Given the description of an element on the screen output the (x, y) to click on. 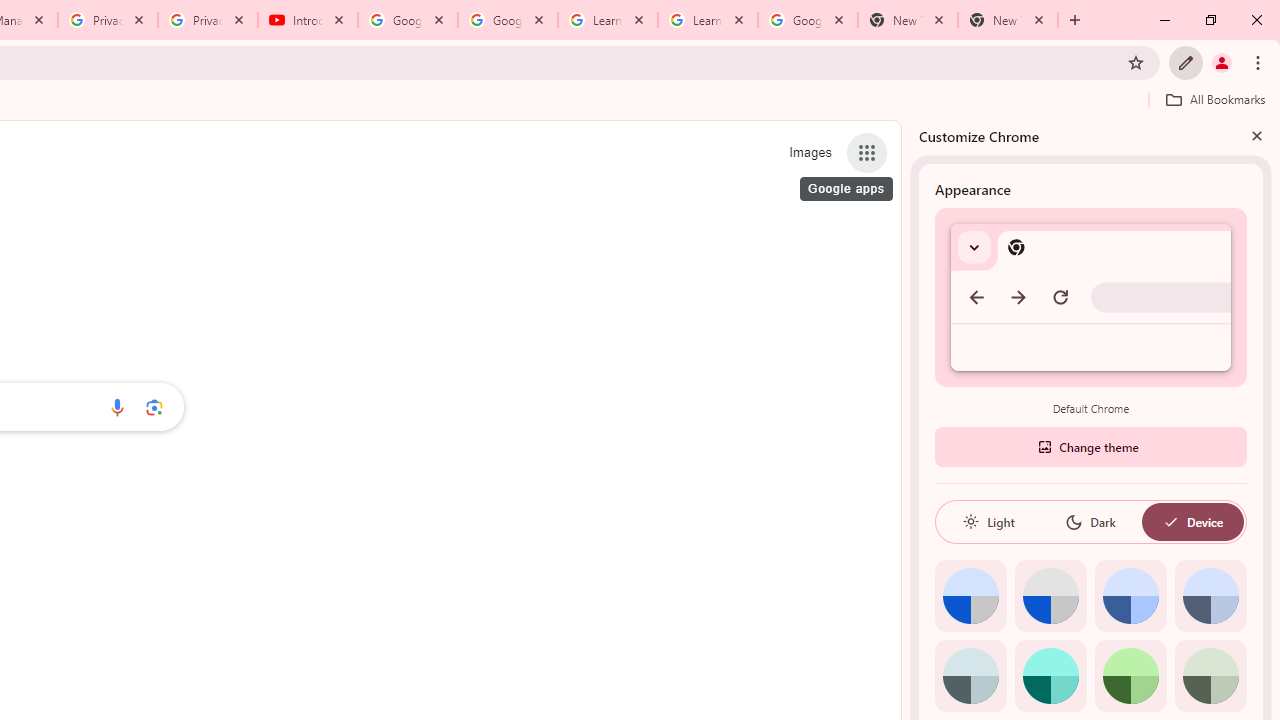
Change theme (1090, 446)
Viridian (1210, 676)
Google Account Help (508, 20)
Cool grey (1210, 596)
Device (1192, 521)
Introduction | Google Privacy Policy - YouTube (308, 20)
Blue (1130, 596)
New Tab (1007, 20)
Aqua (1050, 676)
